Given the description of an element on the screen output the (x, y) to click on. 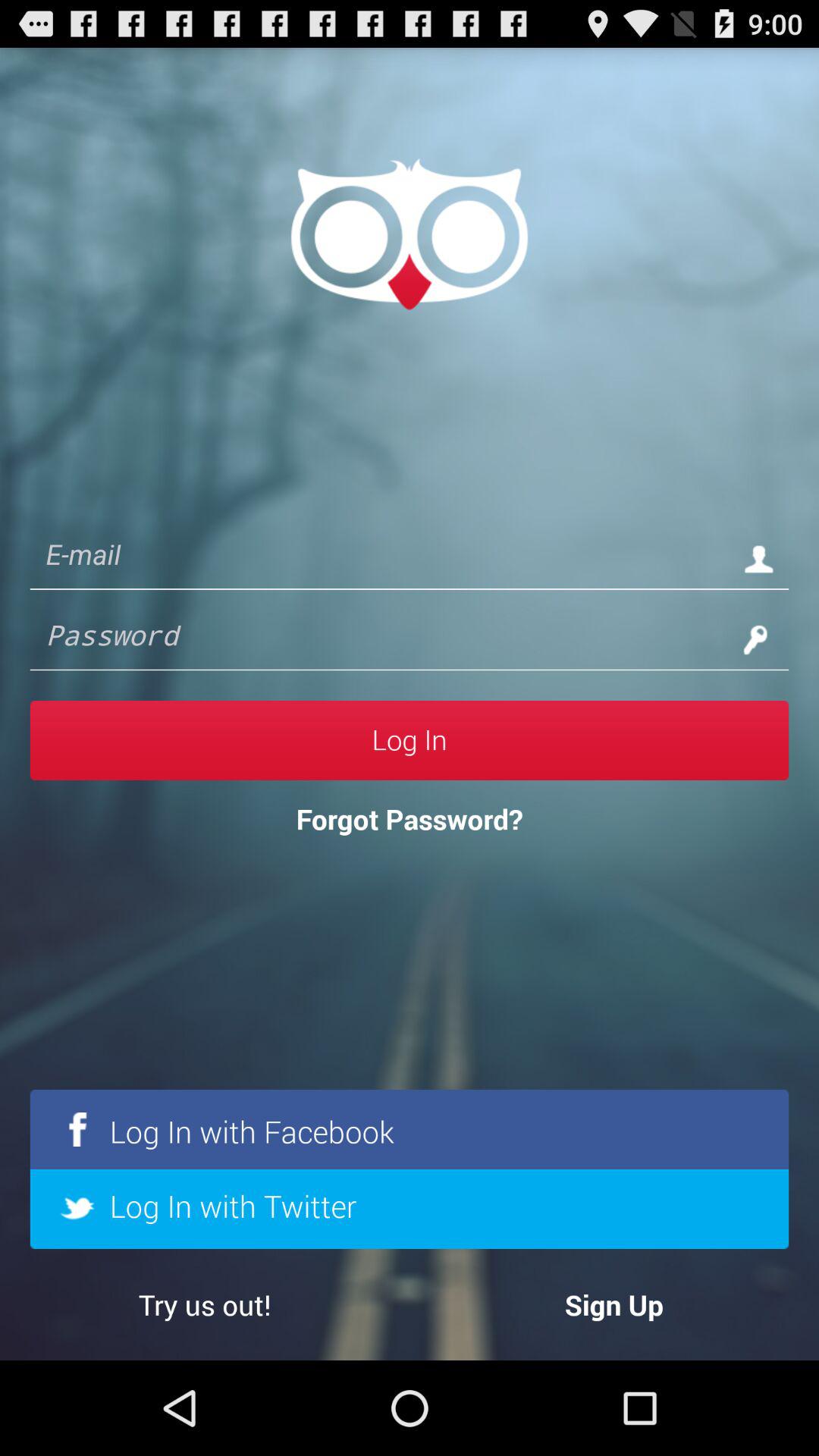
to enter password for login (379, 639)
